Given the description of an element on the screen output the (x, y) to click on. 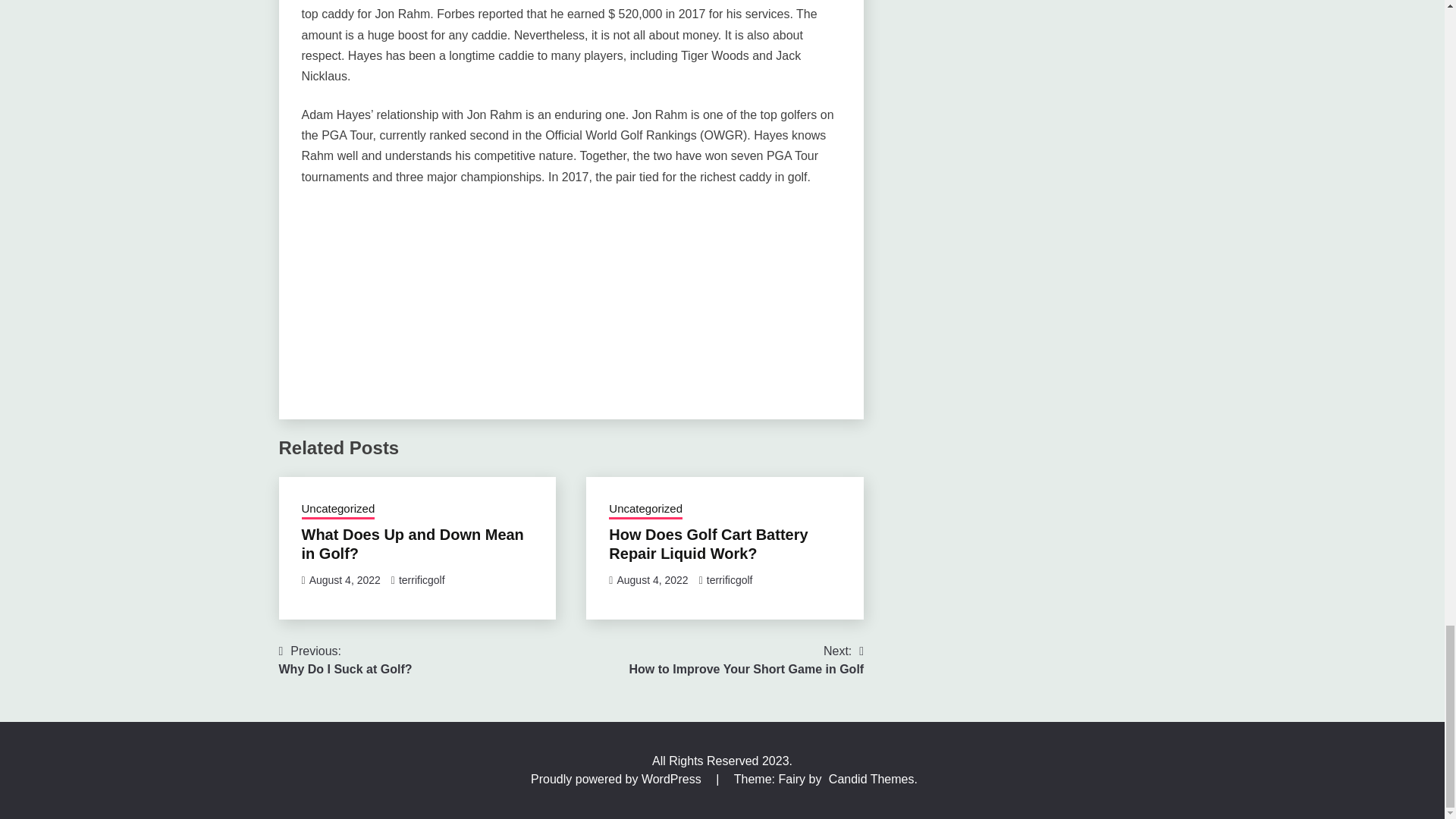
August 4, 2022 (344, 580)
August 4, 2022 (345, 660)
Uncategorized (651, 580)
Uncategorized (338, 510)
What Does Up and Down Mean in Golf? (645, 510)
terrificgolf (746, 660)
How Does Golf Cart Battery Repair Liquid Work? (412, 543)
terrificgolf (421, 580)
